Given the description of an element on the screen output the (x, y) to click on. 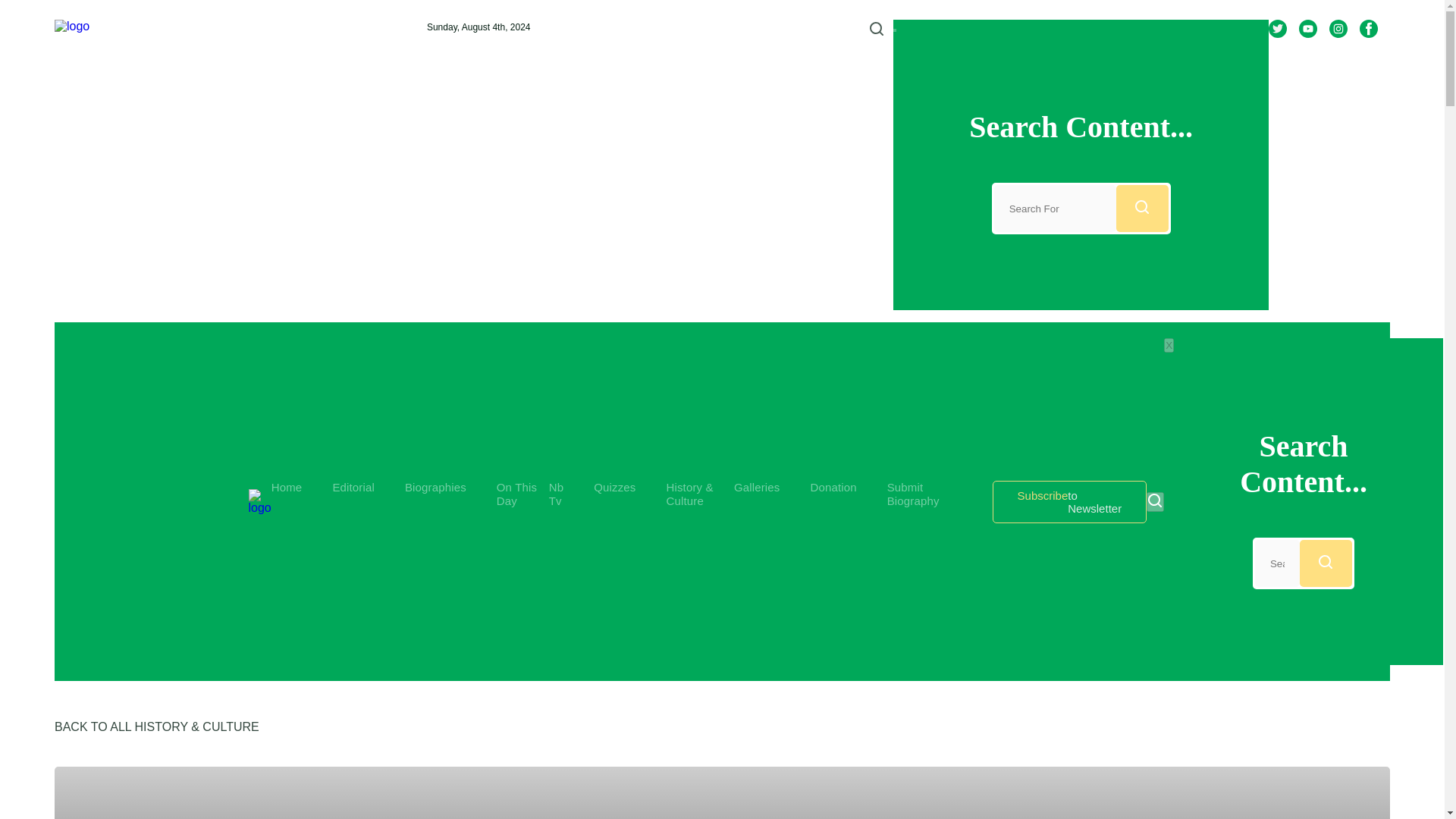
Donation (832, 486)
Galleries (756, 486)
Quizzes (614, 486)
Editorial (352, 486)
Biographies (434, 486)
On This Day (516, 493)
Nb Tv (1069, 501)
X (555, 493)
Home (1168, 345)
Submit Biography (286, 486)
